Given the description of an element on the screen output the (x, y) to click on. 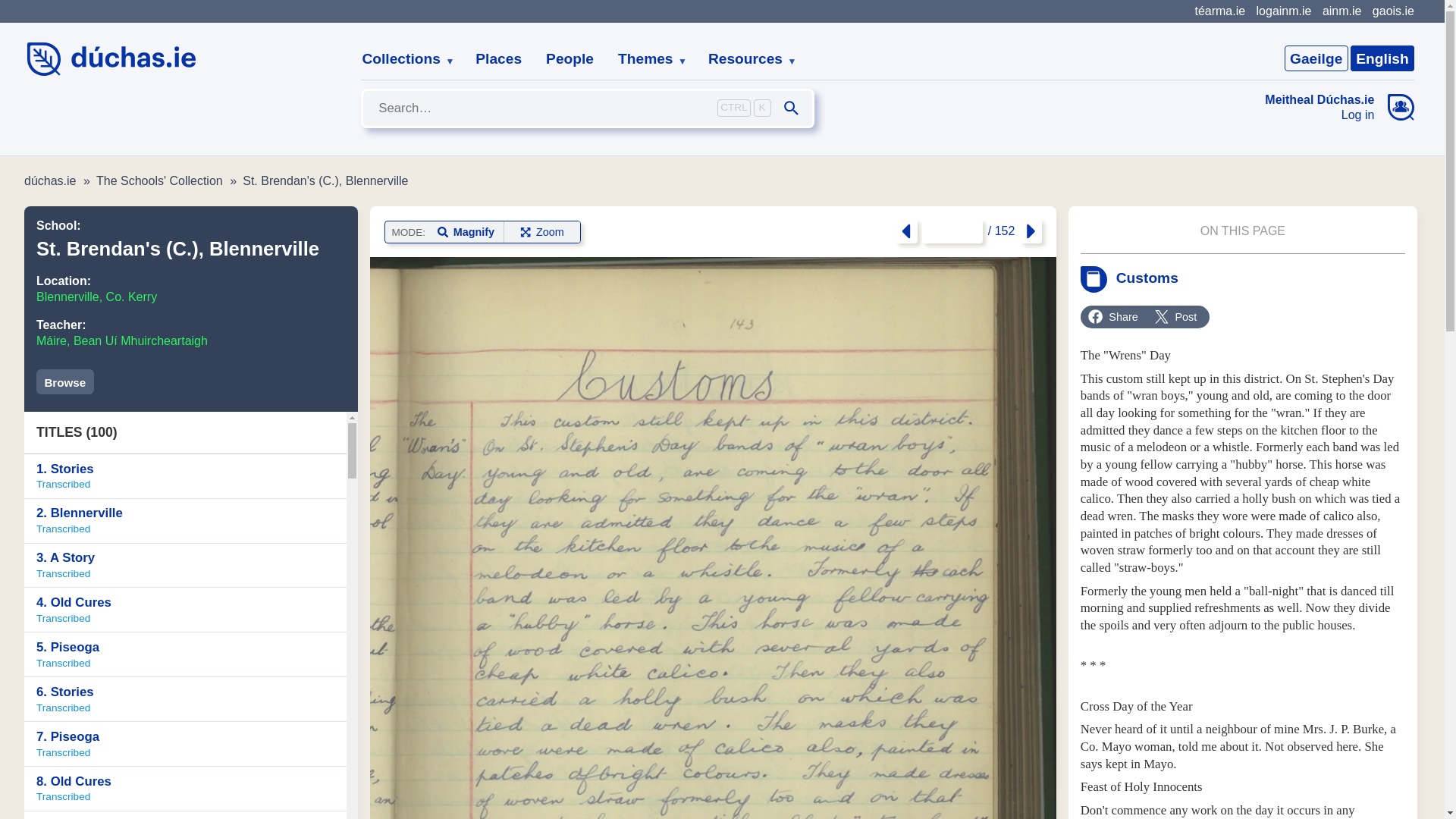
Blennerville, Co. Kerry (96, 296)
Log in (1319, 114)
Themes (646, 59)
Collections (185, 520)
Browse (401, 59)
English (65, 381)
Places (1382, 58)
Resources (498, 58)
